Given the description of an element on the screen output the (x, y) to click on. 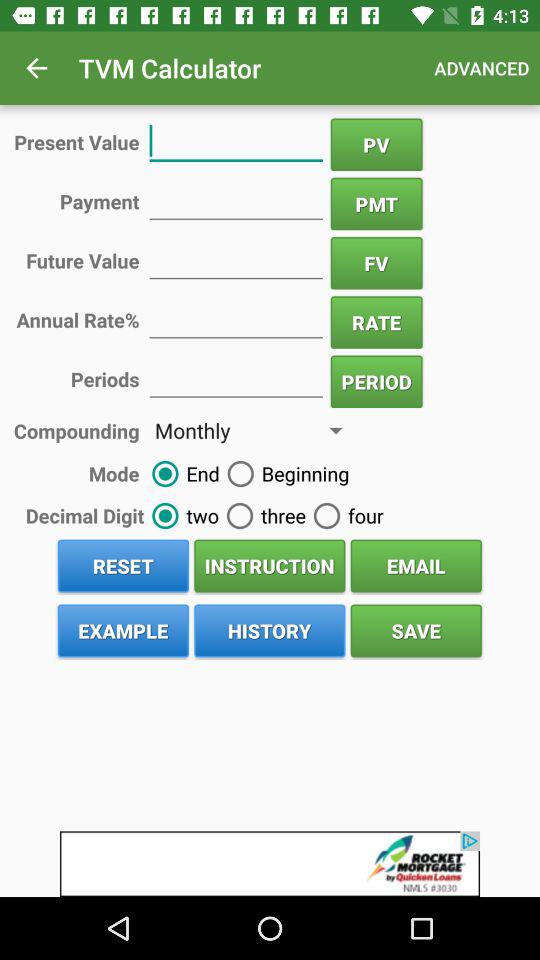
calculate your rate (236, 318)
